Given the description of an element on the screen output the (x, y) to click on. 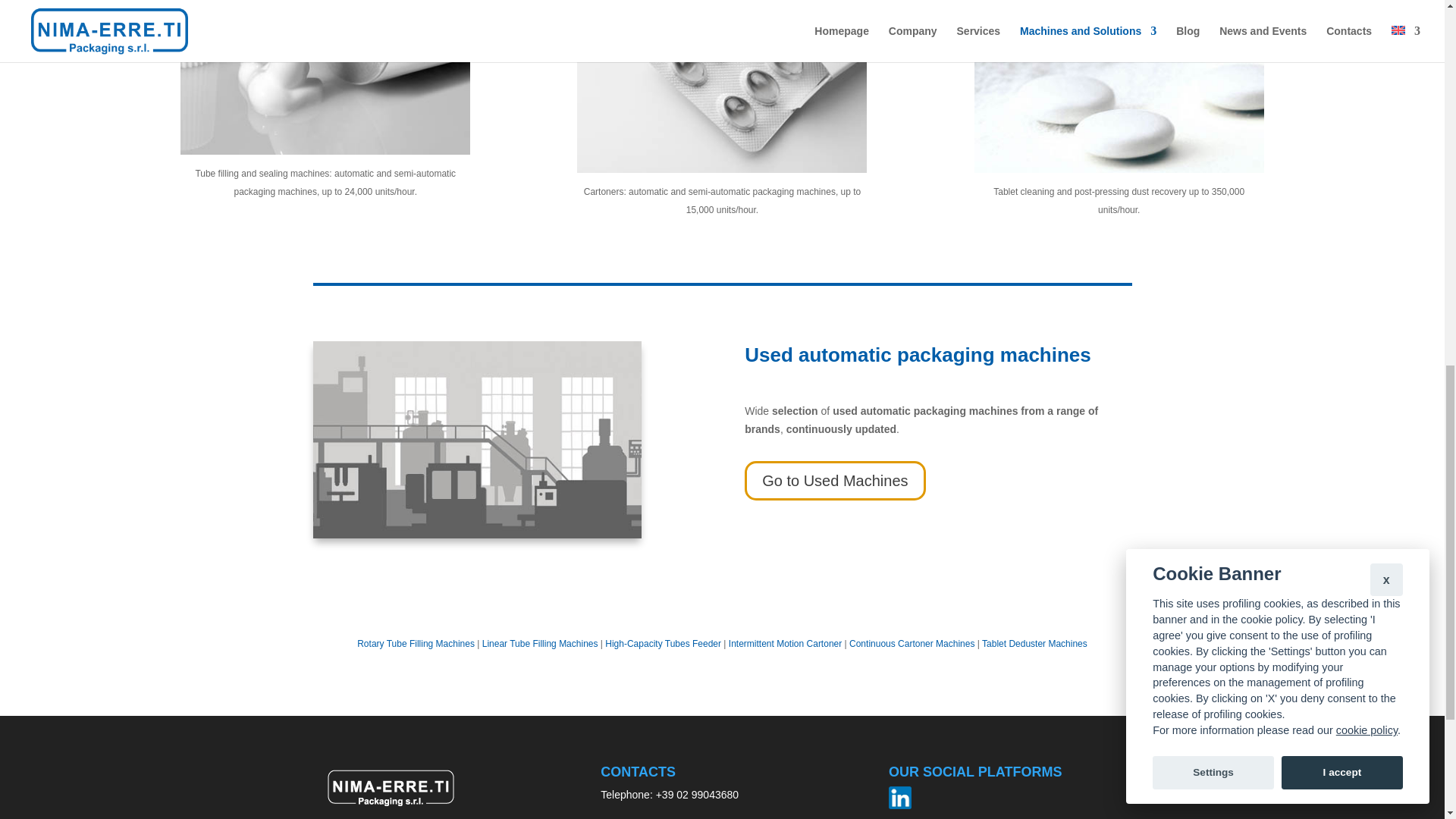
Rotary Tube Filling Machines (415, 643)
Linear Tube Filling Machines (539, 643)
Go to Used Machines (834, 480)
